Given the description of an element on the screen output the (x, y) to click on. 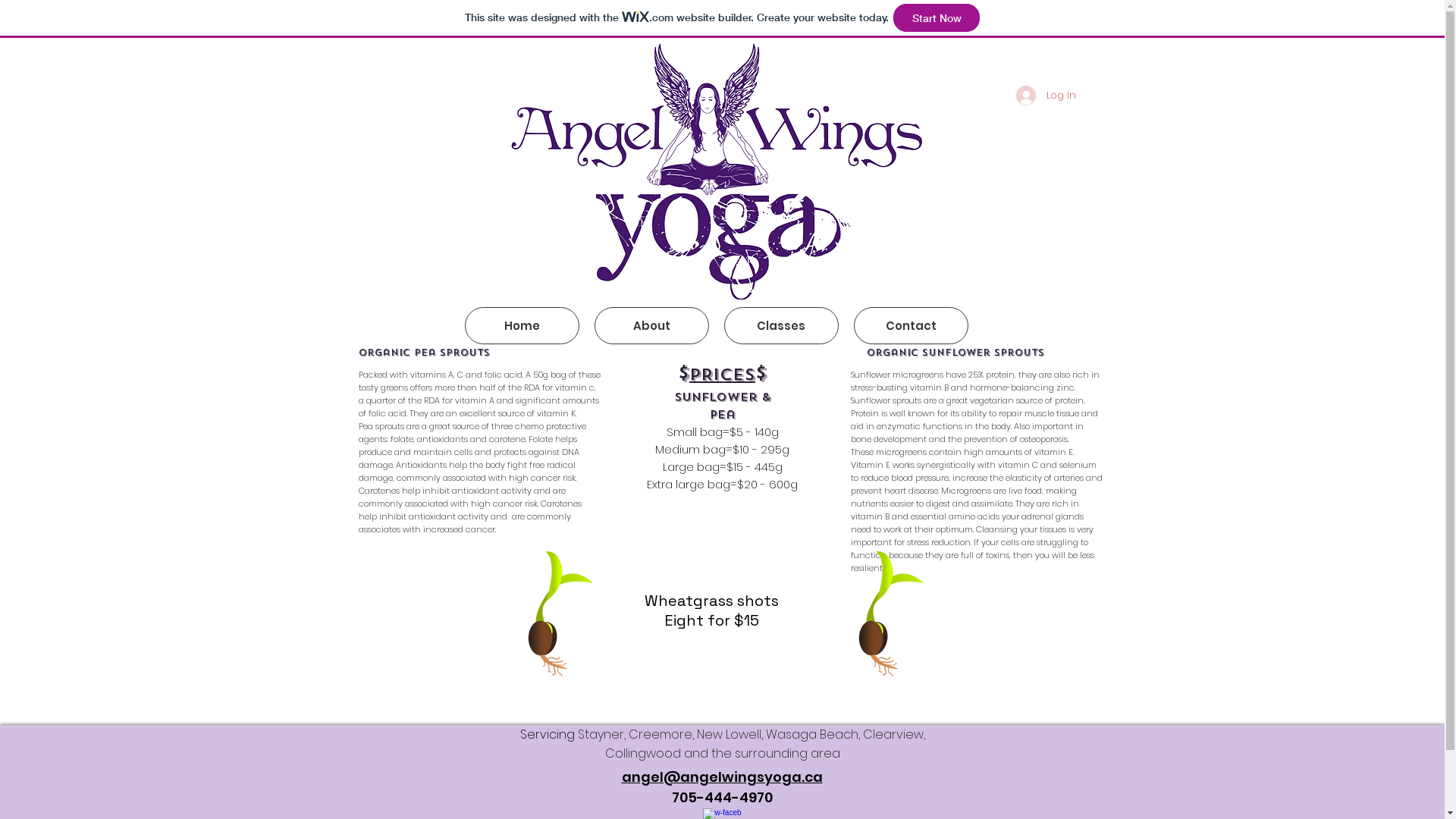
Contact Element type: text (910, 325)
Log In Element type: text (1045, 95)
Classes Element type: text (780, 325)
About Element type: text (651, 325)
Chic and Elegant New Arrivals Website Ho Element type: hover (716, 173)
angel@angelwingsyoga.ca Element type: text (721, 776)
Home Element type: text (521, 325)
